Given the description of an element on the screen output the (x, y) to click on. 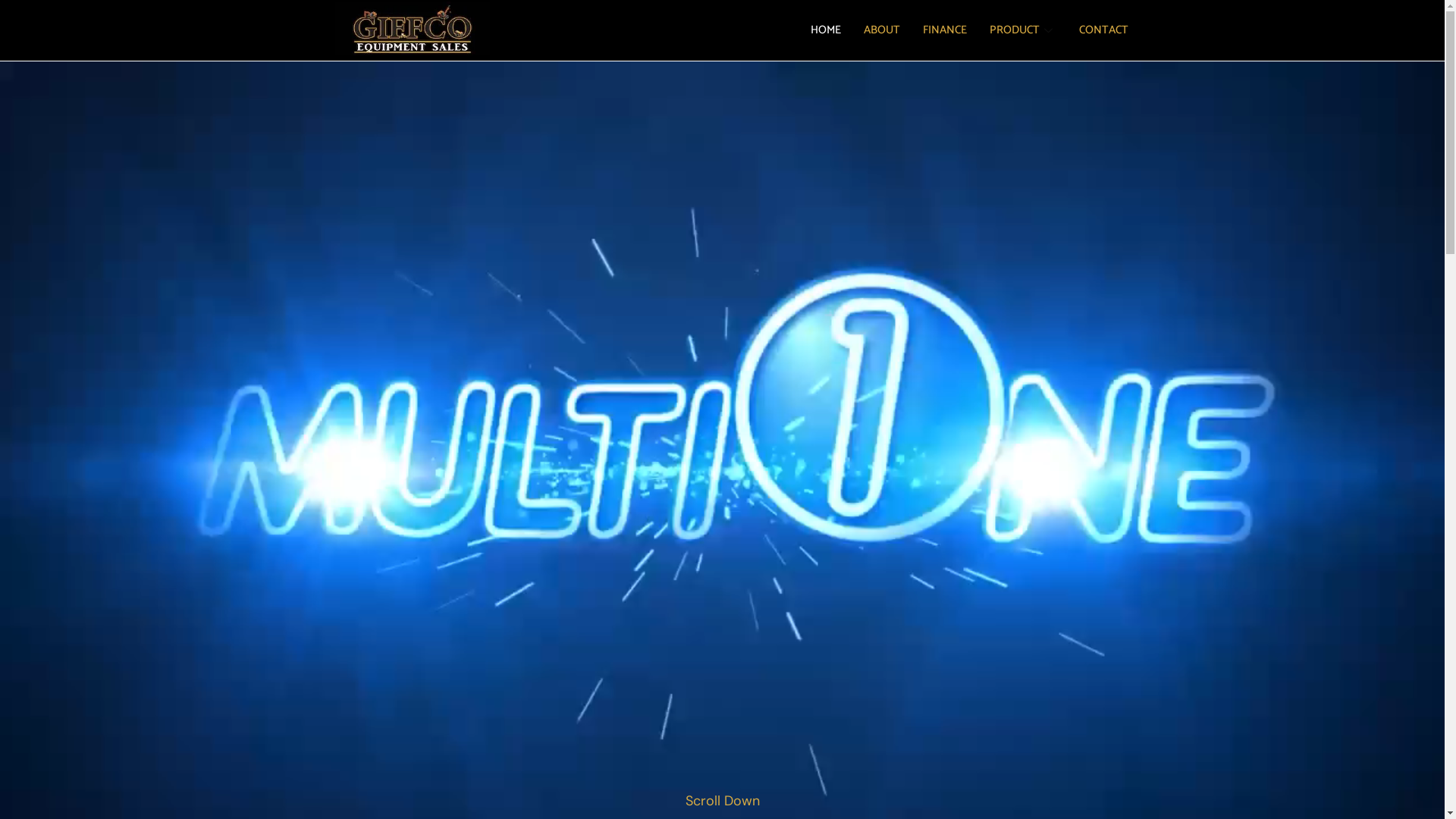
CONTACT Element type: text (1103, 30)
ABOUT Element type: text (881, 30)
HOME Element type: text (825, 30)
PRODUCT Element type: text (1022, 30)
FINANCE Element type: text (944, 30)
